Given the description of an element on the screen output the (x, y) to click on. 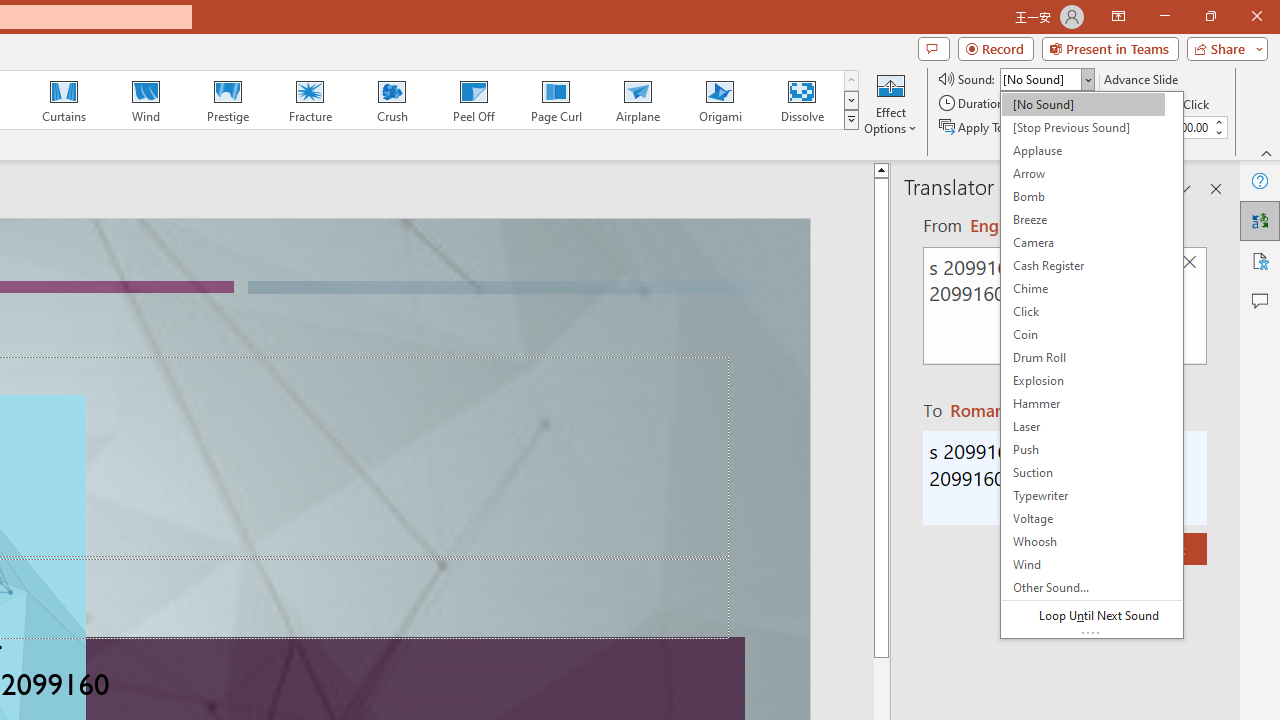
Origami (719, 100)
Page Curl (555, 100)
